Given the description of an element on the screen output the (x, y) to click on. 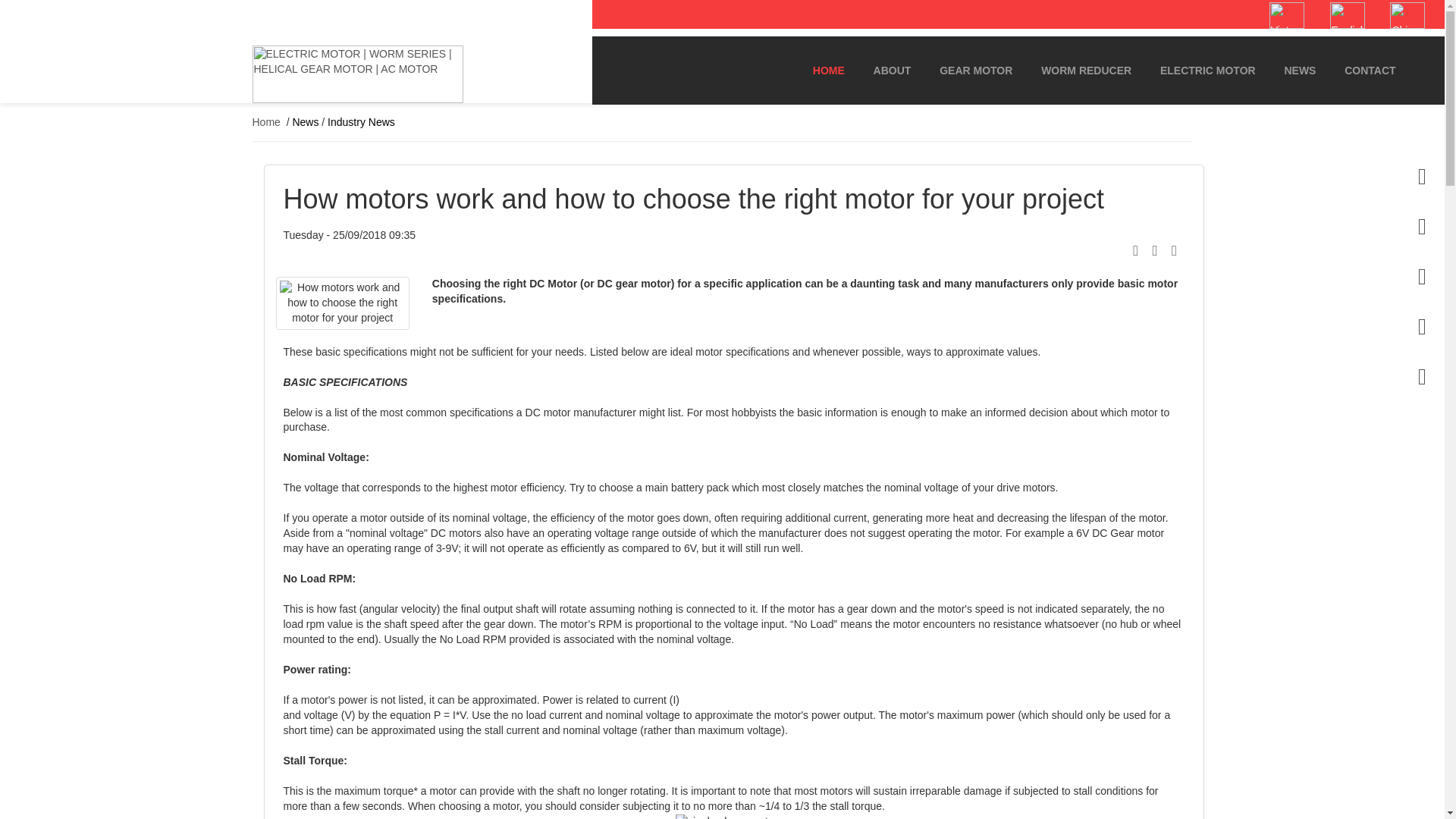
News (305, 121)
WORM REDUCER (1086, 70)
GEAR MOTOR (975, 70)
CONTACT (1368, 70)
ELECTRIC MOTOR (1207, 70)
NEWS (1300, 70)
Industry News (360, 121)
HOME (828, 70)
Home (265, 121)
ABOUT (892, 70)
